Given the description of an element on the screen output the (x, y) to click on. 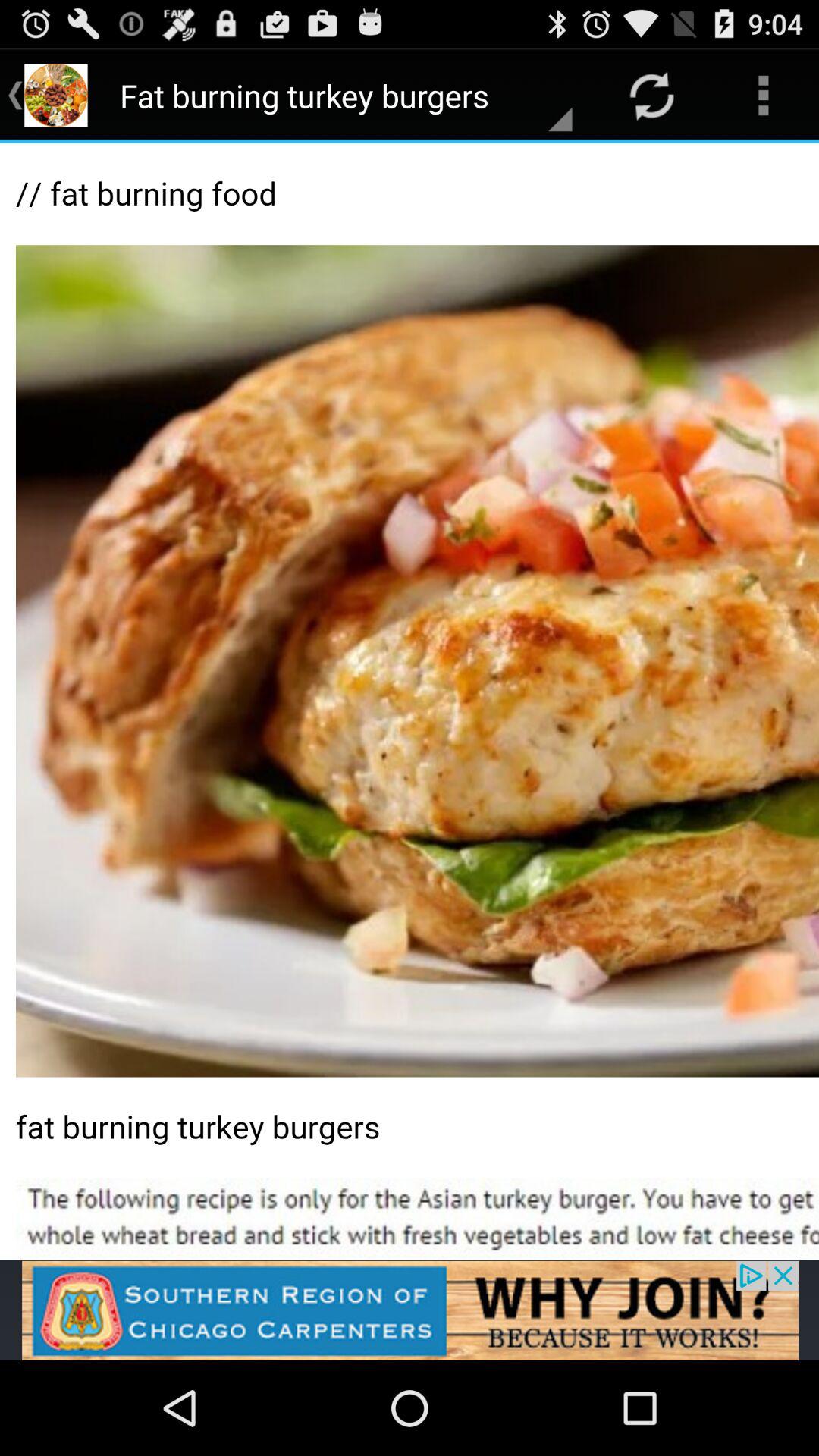
open advertisement (409, 1310)
